Given the description of an element on the screen output the (x, y) to click on. 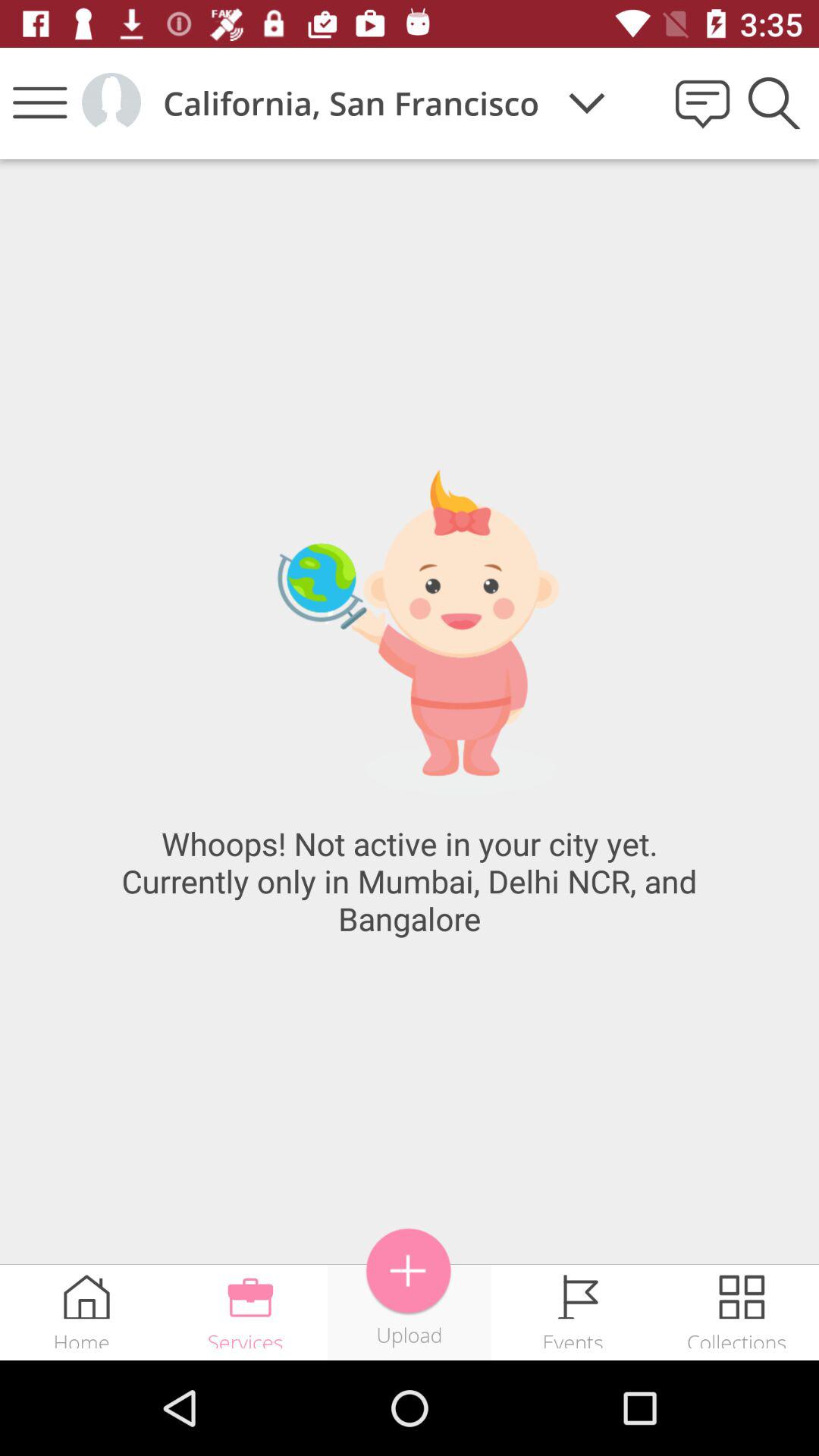
choose the california, san francisco item (351, 102)
